Given the description of an element on the screen output the (x, y) to click on. 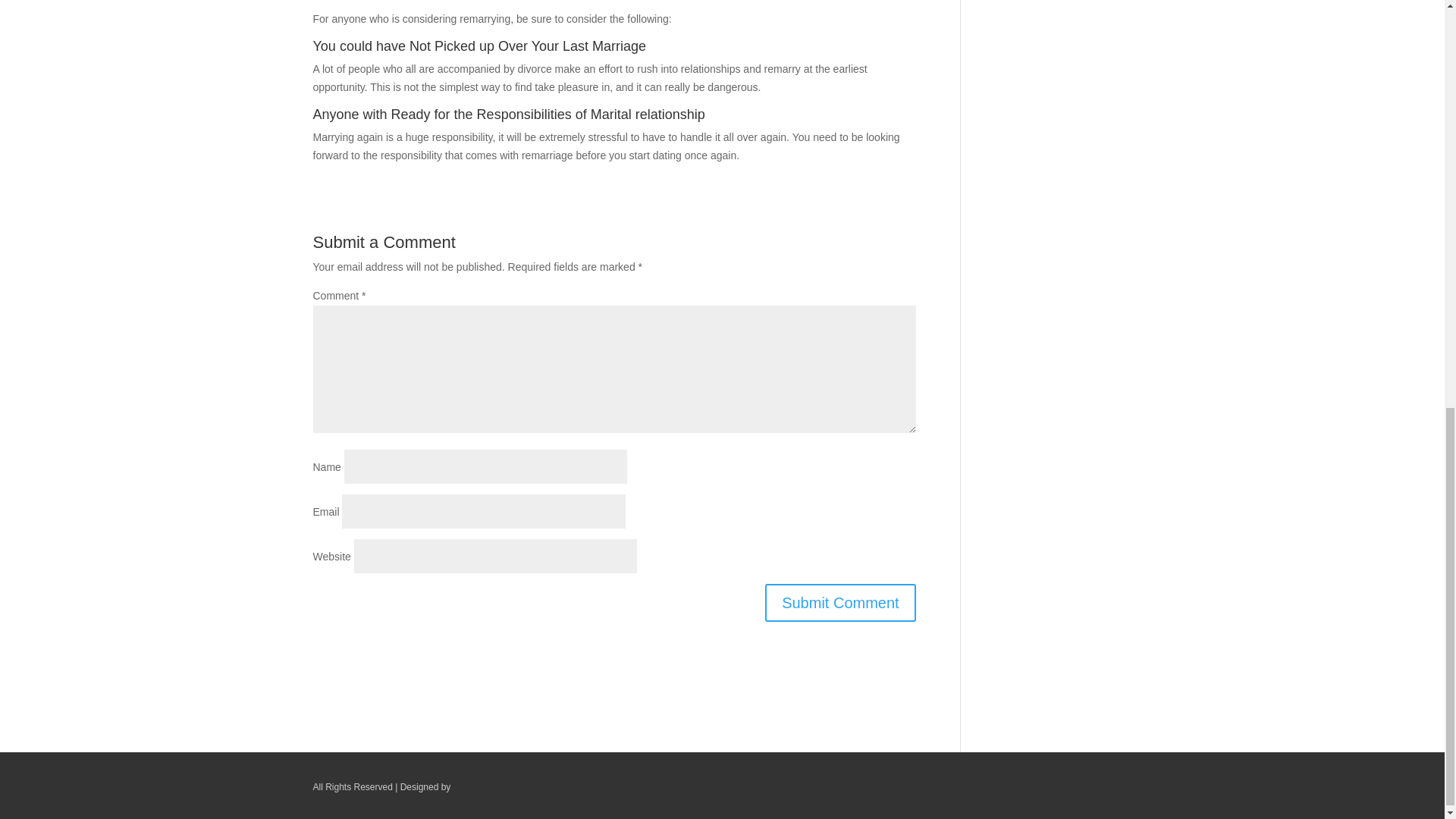
wp-numero-logo (504, 787)
FB 2 icon (1119, 789)
Submit Comment (840, 602)
Submit Comment (840, 602)
